Given the description of an element on the screen output the (x, y) to click on. 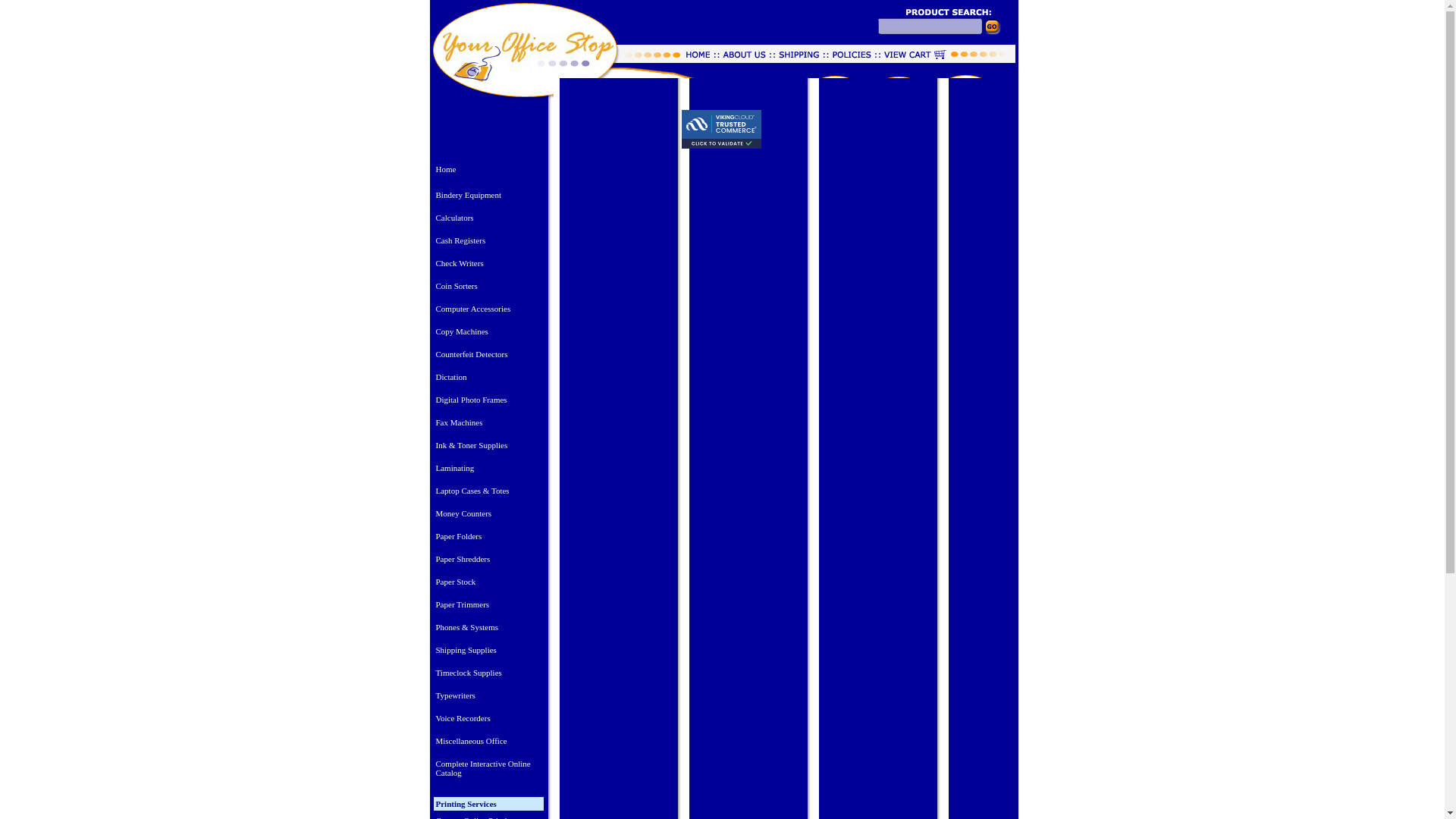
Copy Machines (487, 331)
Fax Machines (487, 421)
Digital Photo Frames (487, 399)
Dictation (487, 376)
Calculators (487, 217)
Paper Shredders (487, 558)
search (999, 31)
Check Writers (487, 263)
Money Counters (487, 513)
